Given the description of an element on the screen output the (x, y) to click on. 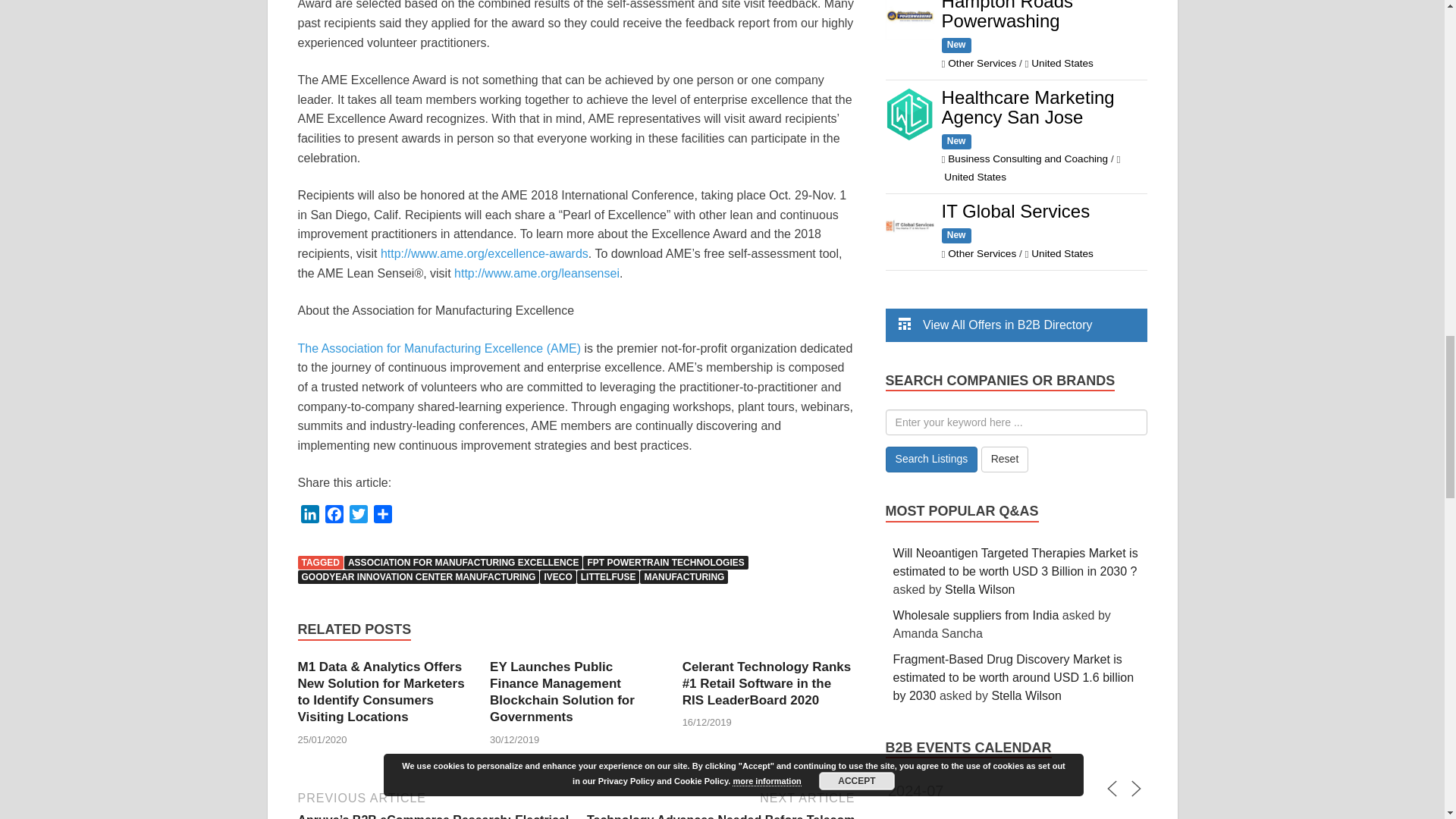
LinkedIn (309, 516)
2024-07 (939, 790)
Facebook (333, 516)
Twitter (357, 516)
